Given the description of an element on the screen output the (x, y) to click on. 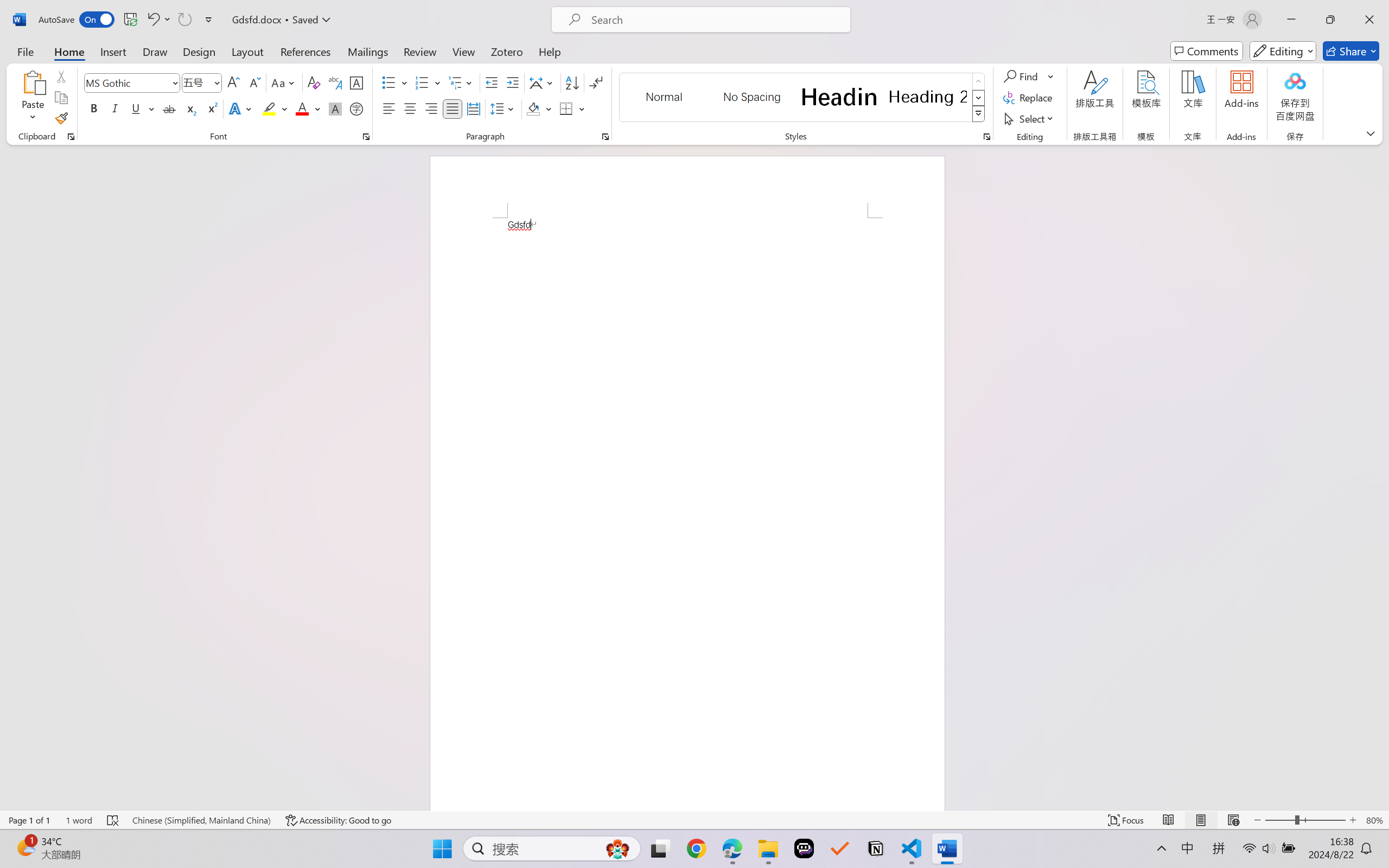
Zoom 80% (1374, 819)
Spelling and Grammar Check Errors (113, 819)
